Given the description of an element on the screen output the (x, y) to click on. 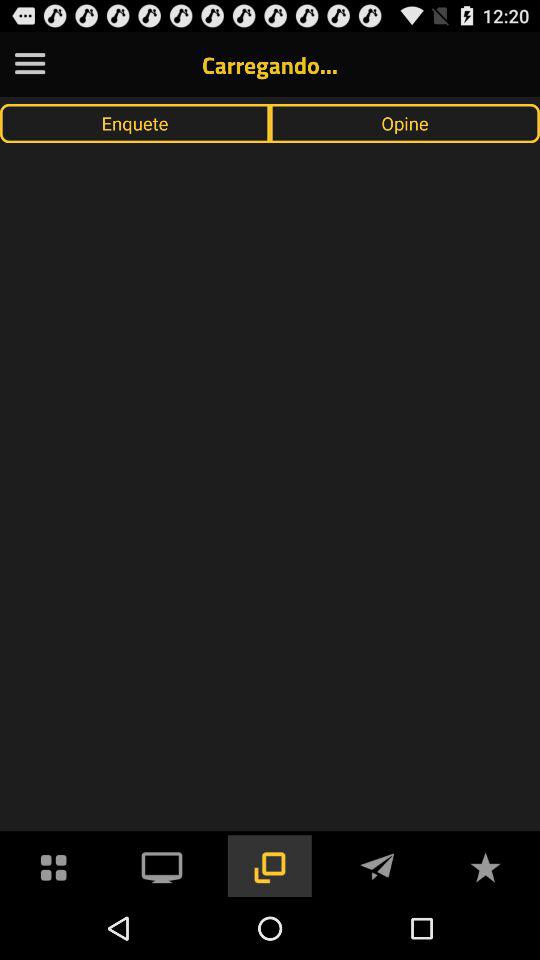
turn on the item next to carregando... item (29, 64)
